Given the description of an element on the screen output the (x, y) to click on. 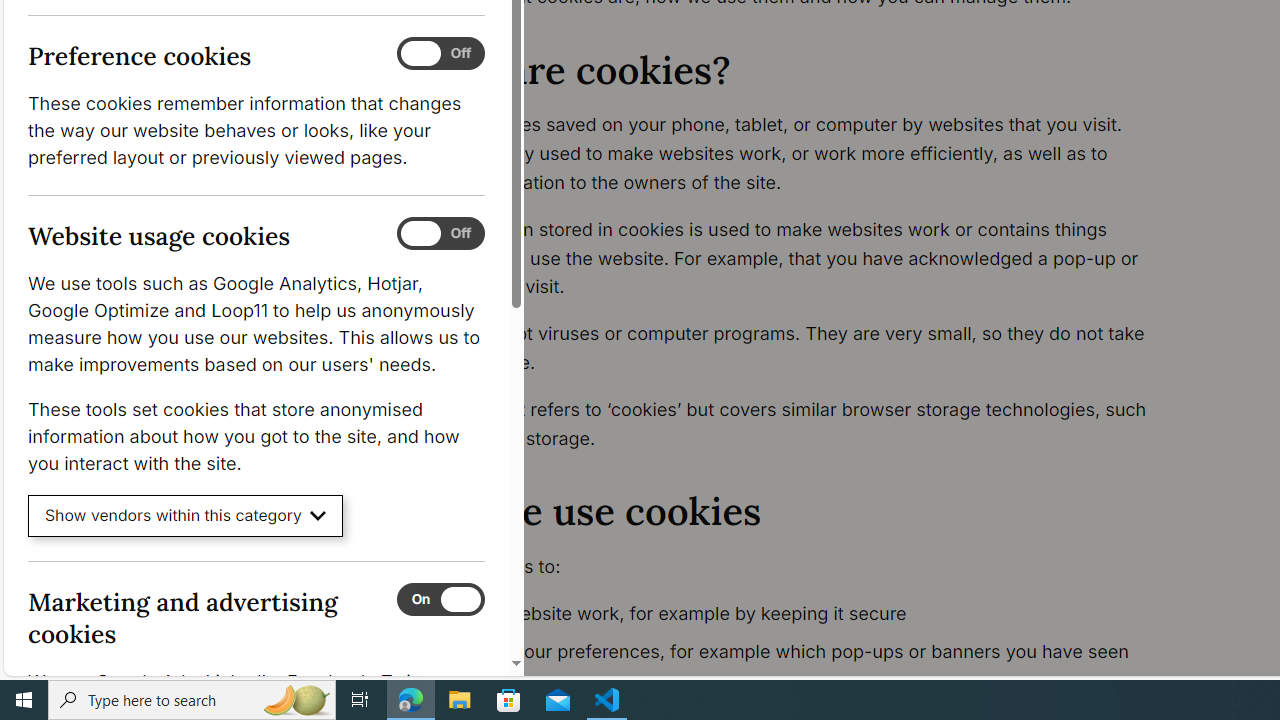
make our website work, for example by keeping it secure (796, 614)
Show vendors within this category (185, 516)
Website usage cookies (440, 233)
Marketing and advertising cookies (440, 599)
Preference cookies (440, 53)
